Given the description of an element on the screen output the (x, y) to click on. 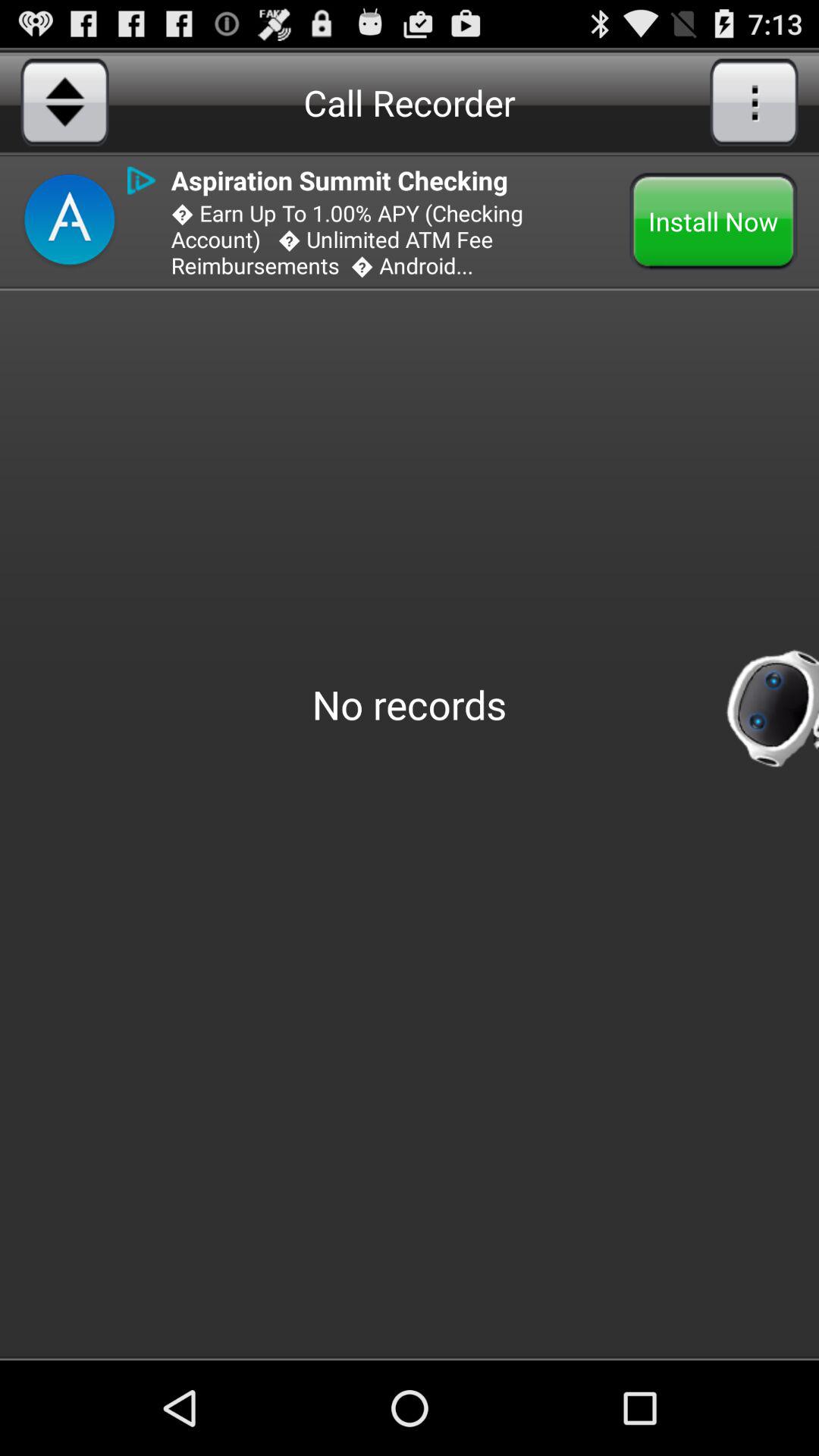
select install now (713, 220)
click on the robot image (772, 703)
select the info icon (141, 181)
select the menu icon (754, 102)
